Given the description of an element on the screen output the (x, y) to click on. 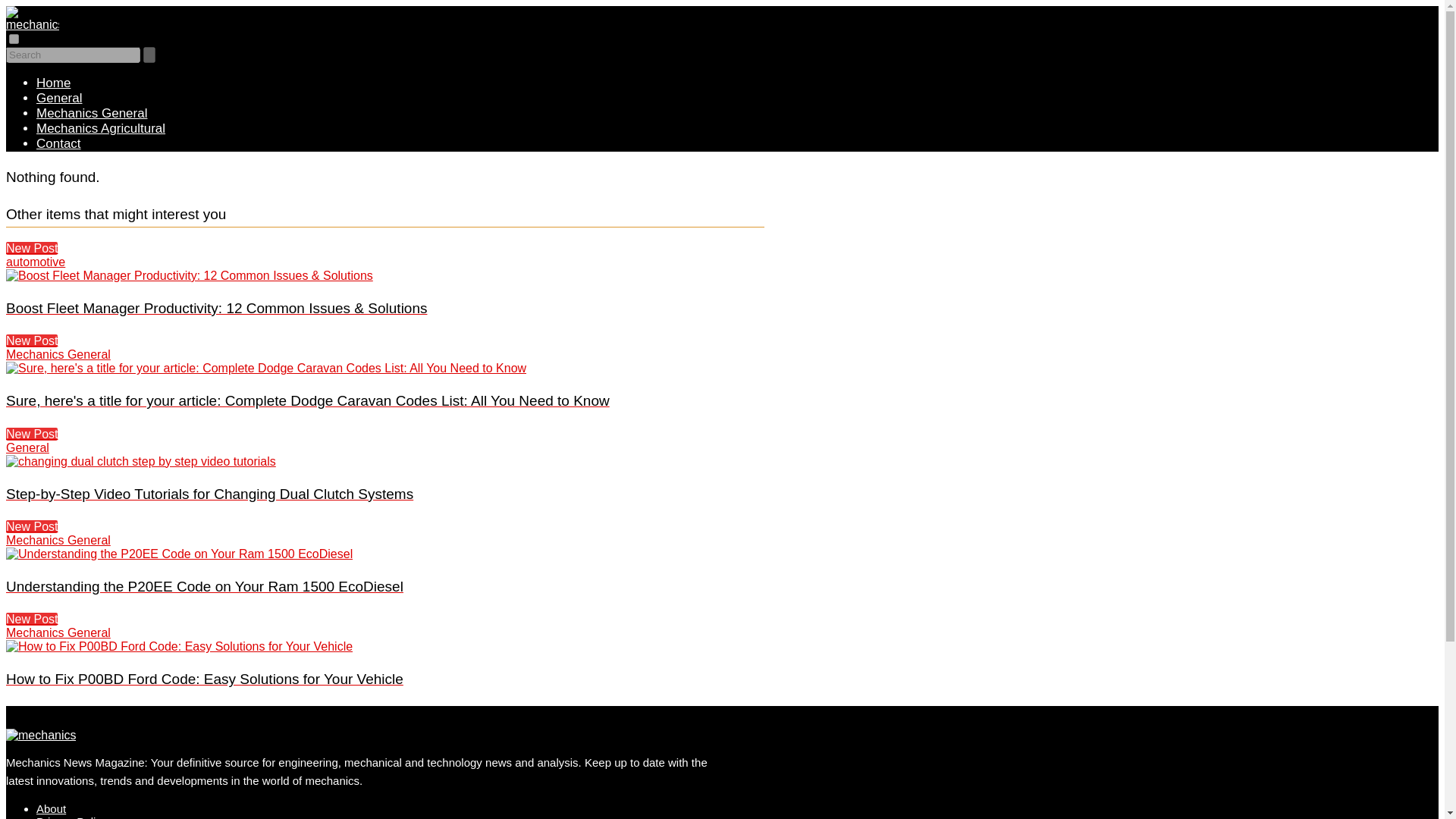
Mechanics General (91, 113)
General (58, 97)
Mechanics Agricultural (100, 128)
Contact (58, 143)
Home (52, 83)
on (13, 39)
Privacy Policy (71, 816)
How to Fix P00BD Ford Code: Easy Solutions for Your Vehicle (178, 646)
Understanding the P20EE Code on Your Ram 1500 EcoDiesel (178, 554)
About (50, 808)
